Given the description of an element on the screen output the (x, y) to click on. 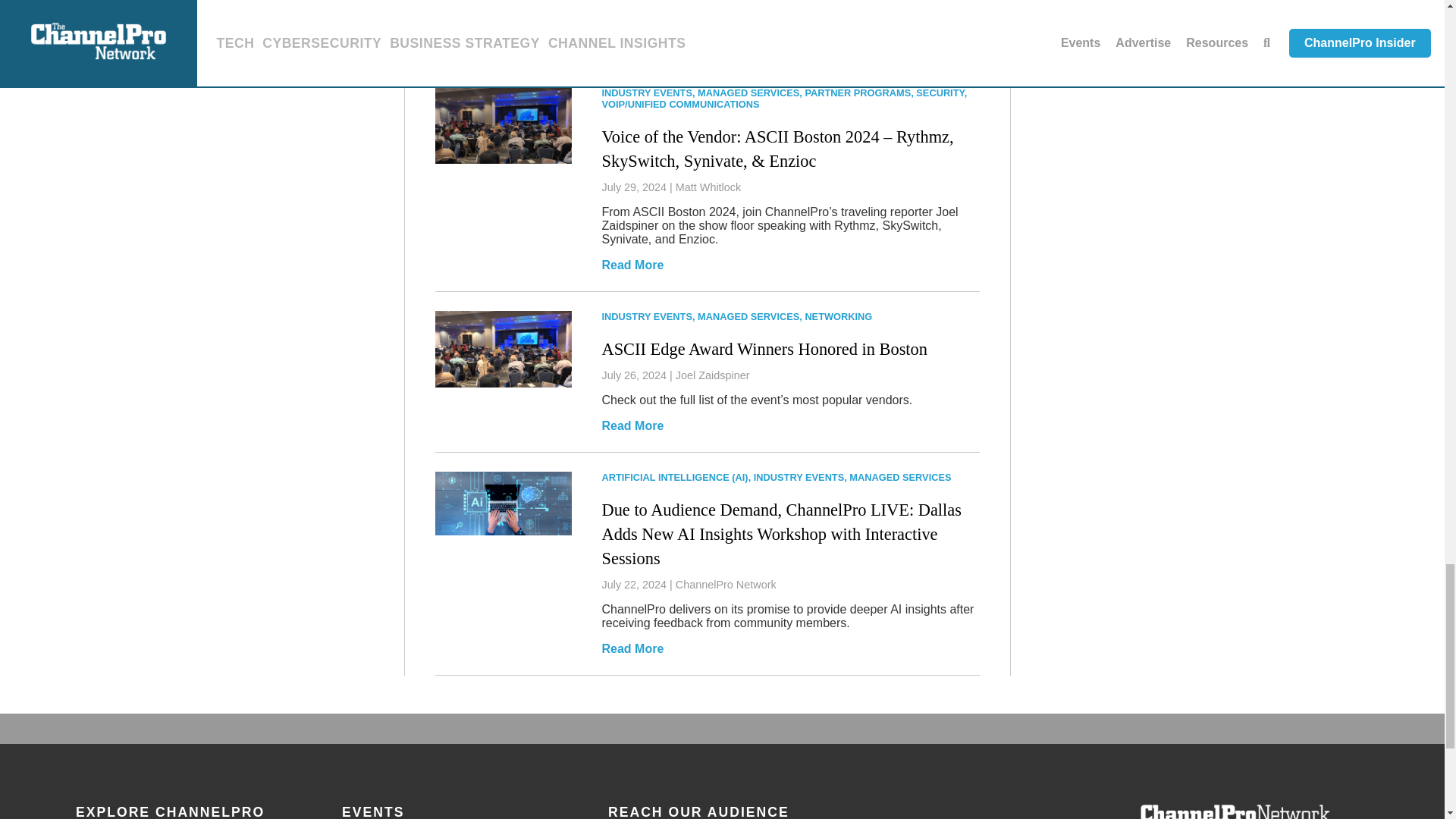
Posts by Matt Whitlock (708, 186)
Posts by ChannelPro Network (725, 584)
Posts by Joel Zaidspiner (712, 375)
